Given the description of an element on the screen output the (x, y) to click on. 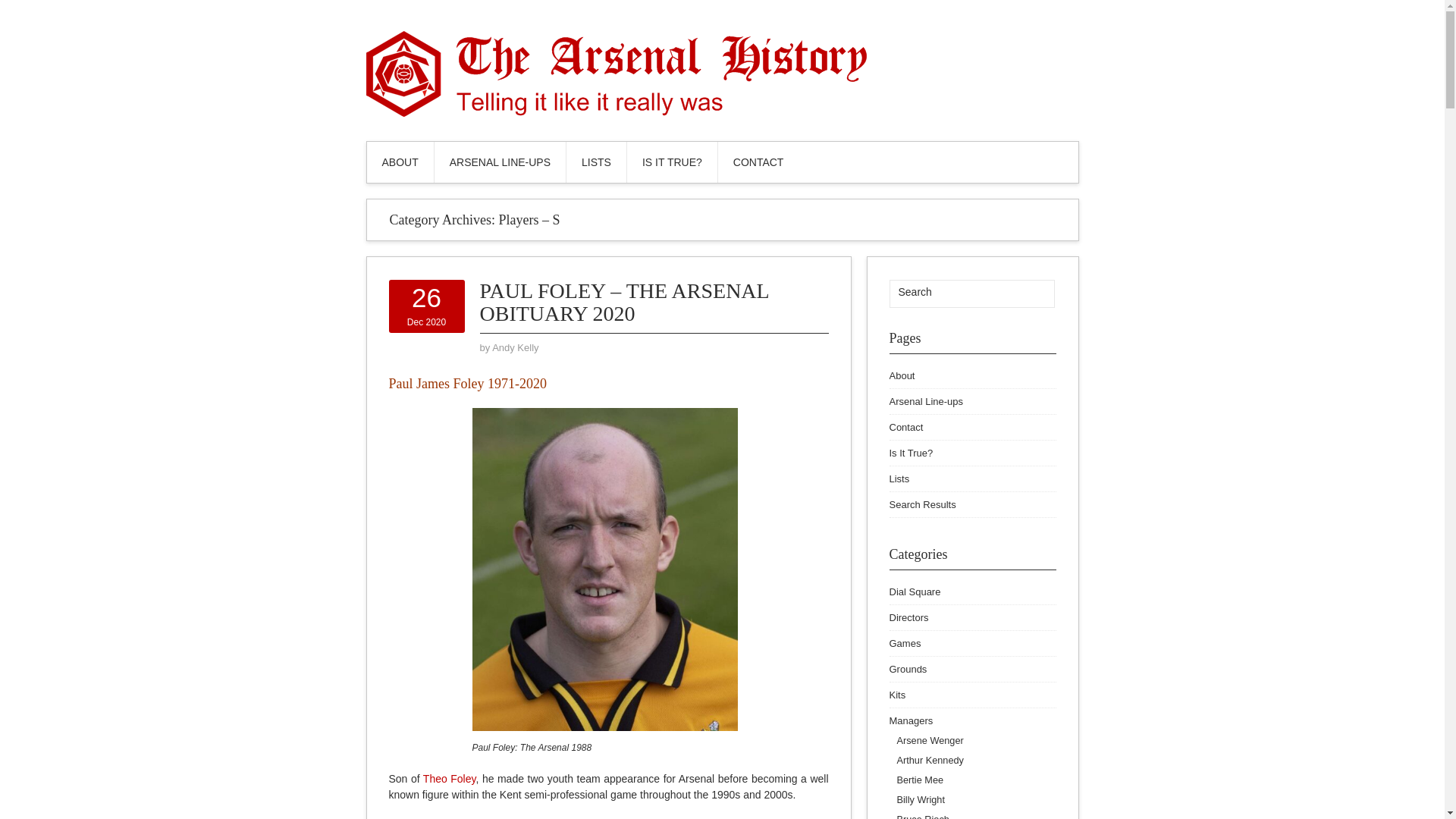
Search (954, 291)
LISTS (596, 161)
IS IT TRUE? (672, 161)
ARSENAL LINE-UPS (499, 161)
by Andy Kelly (515, 347)
Search (1032, 293)
CONTACT (758, 161)
Andy Kelly (426, 305)
26 December 2020 12:00 pm (515, 347)
